Given the description of an element on the screen output the (x, y) to click on. 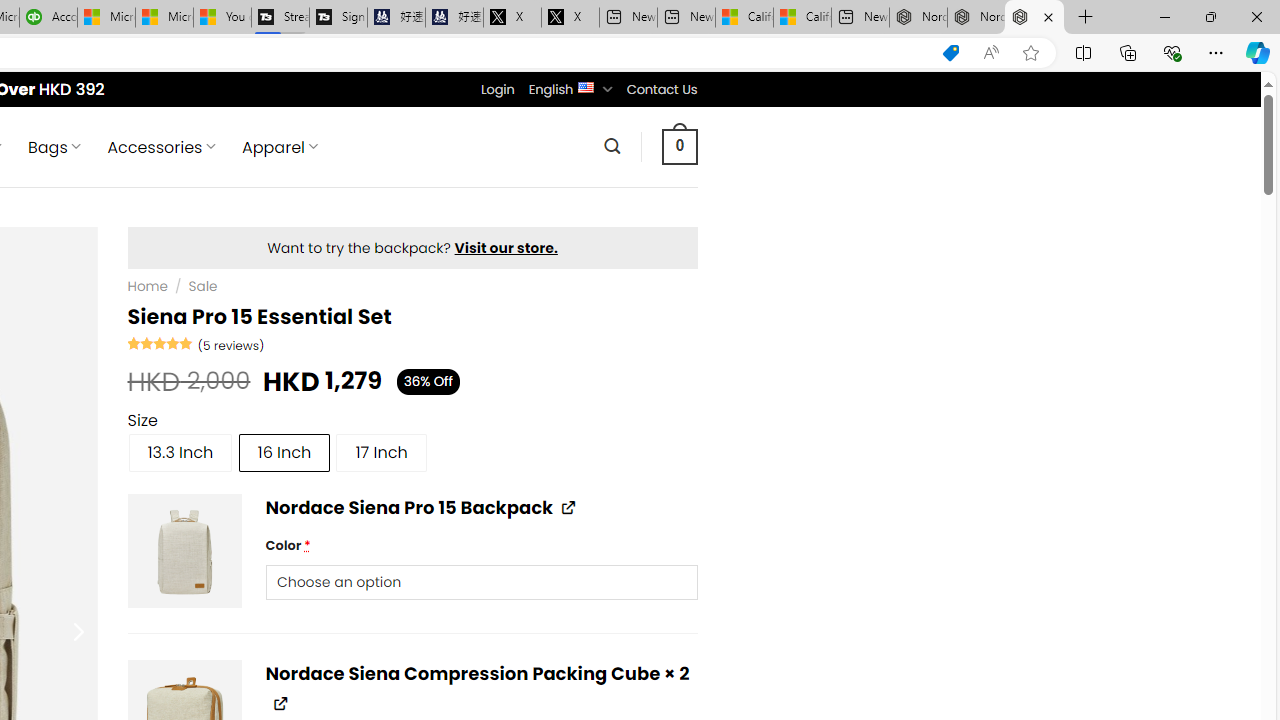
Streaming Coverage | T3 (280, 17)
ND1118-5-1 (183, 550)
English (586, 86)
13.3 Inch (180, 452)
Rated 5.00 out of 5 (160, 342)
View product (280, 703)
